Given the description of an element on the screen output the (x, y) to click on. 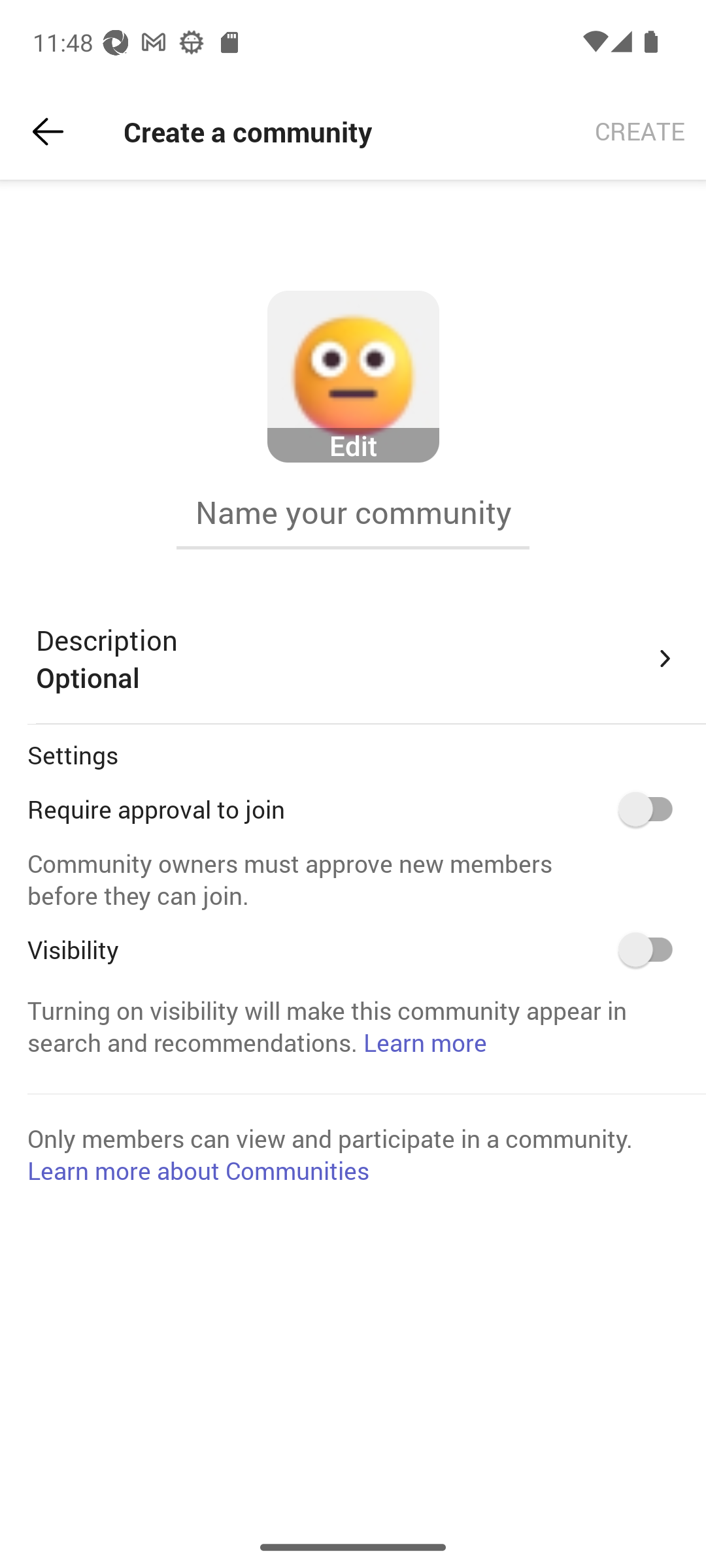
Back (48, 131)
CREATE (639, 131)
Edit community image Edit (353, 377)
Name your community (352, 511)
Description Optional (357, 659)
Require approval to join (652, 808)
Visibility (652, 949)
